Given the description of an element on the screen output the (x, y) to click on. 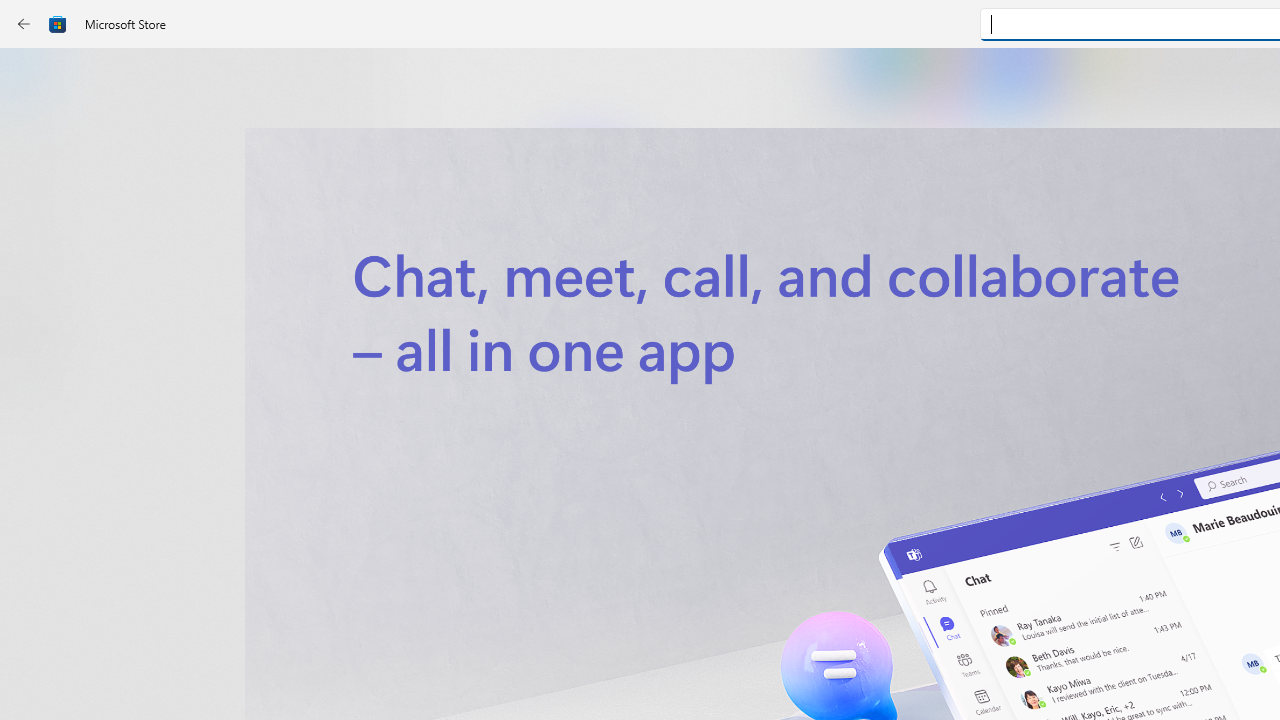
2.6 stars. Click to skip to ratings and reviews (542, 543)
Back (24, 24)
Sign in to review (882, 667)
Show more (854, 428)
Microsoft Corporation (673, 333)
Install (586, 428)
